Given the description of an element on the screen output the (x, y) to click on. 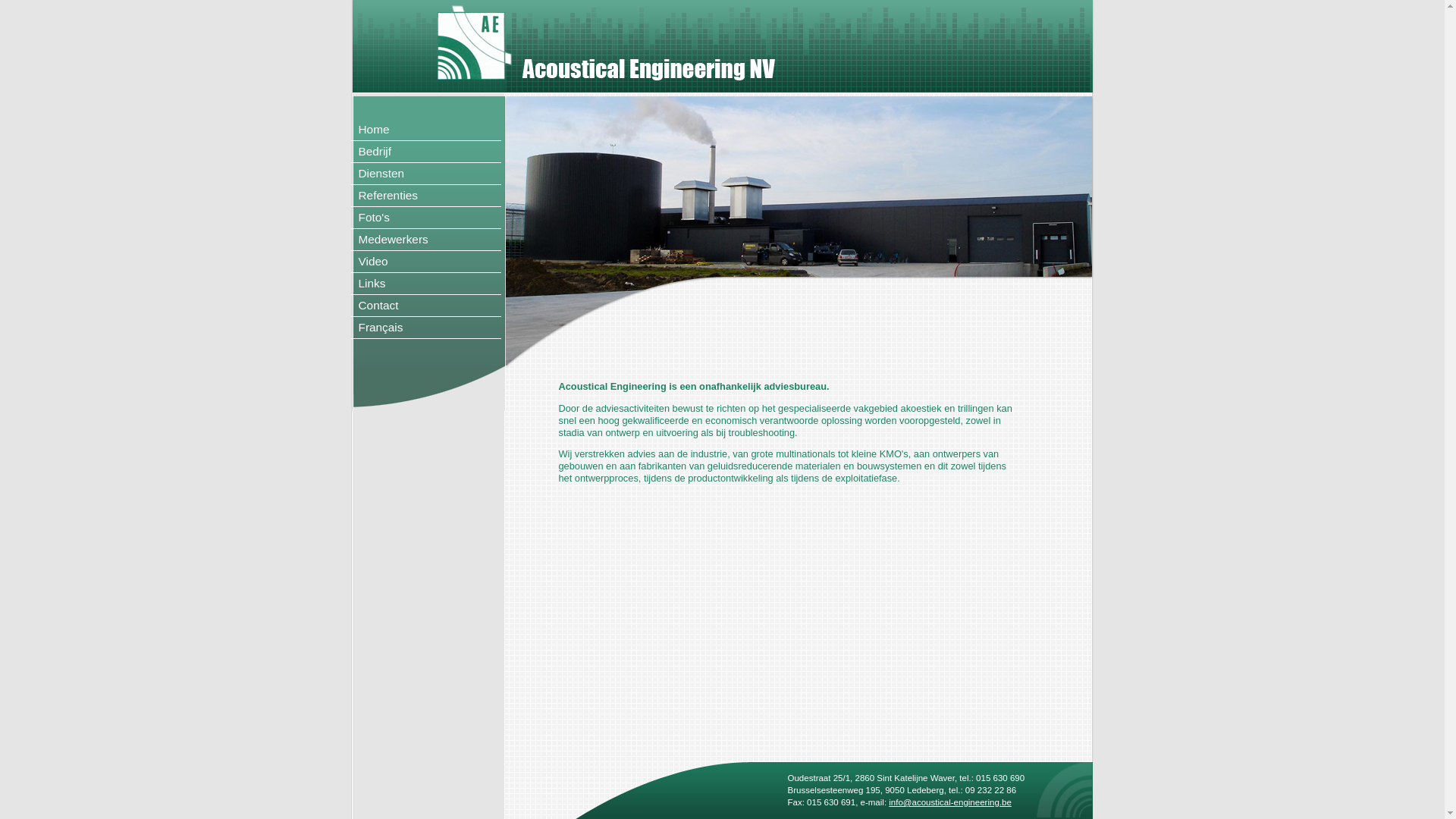
Diensten Element type: text (425, 173)
Contact Element type: text (425, 305)
Foto's Element type: text (425, 217)
Links Element type: text (425, 283)
Video Element type: text (425, 261)
Bedrijf Element type: text (425, 151)
Home Element type: text (425, 129)
Referenties Element type: text (425, 195)
info@acoustical-engineering.be Element type: text (949, 801)
Medewerkers Element type: text (425, 239)
